Given the description of an element on the screen output the (x, y) to click on. 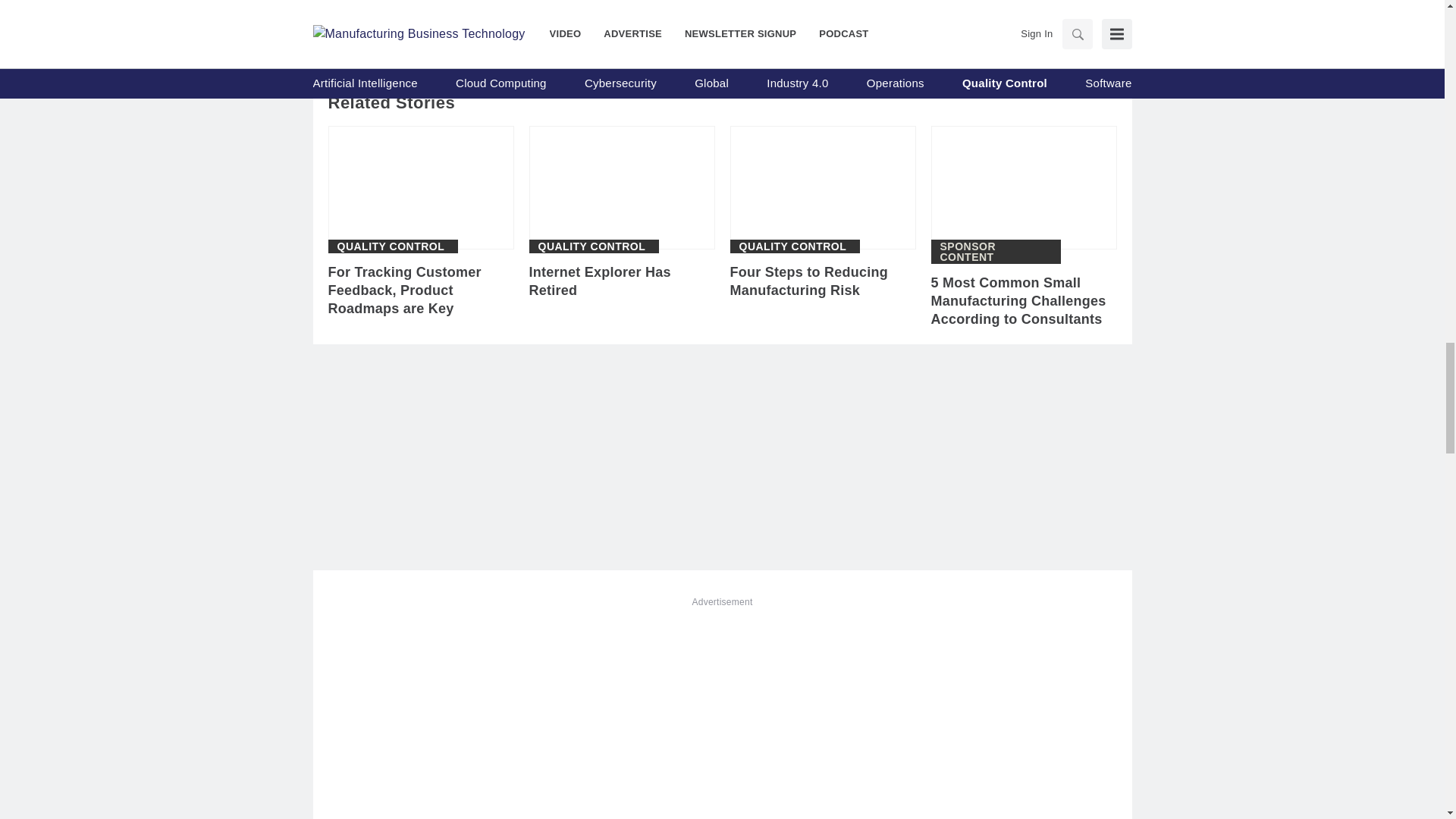
Quality Control (390, 245)
Quality Control (791, 245)
Quality Control (592, 245)
Sponsor Content (996, 251)
